Given the description of an element on the screen output the (x, y) to click on. 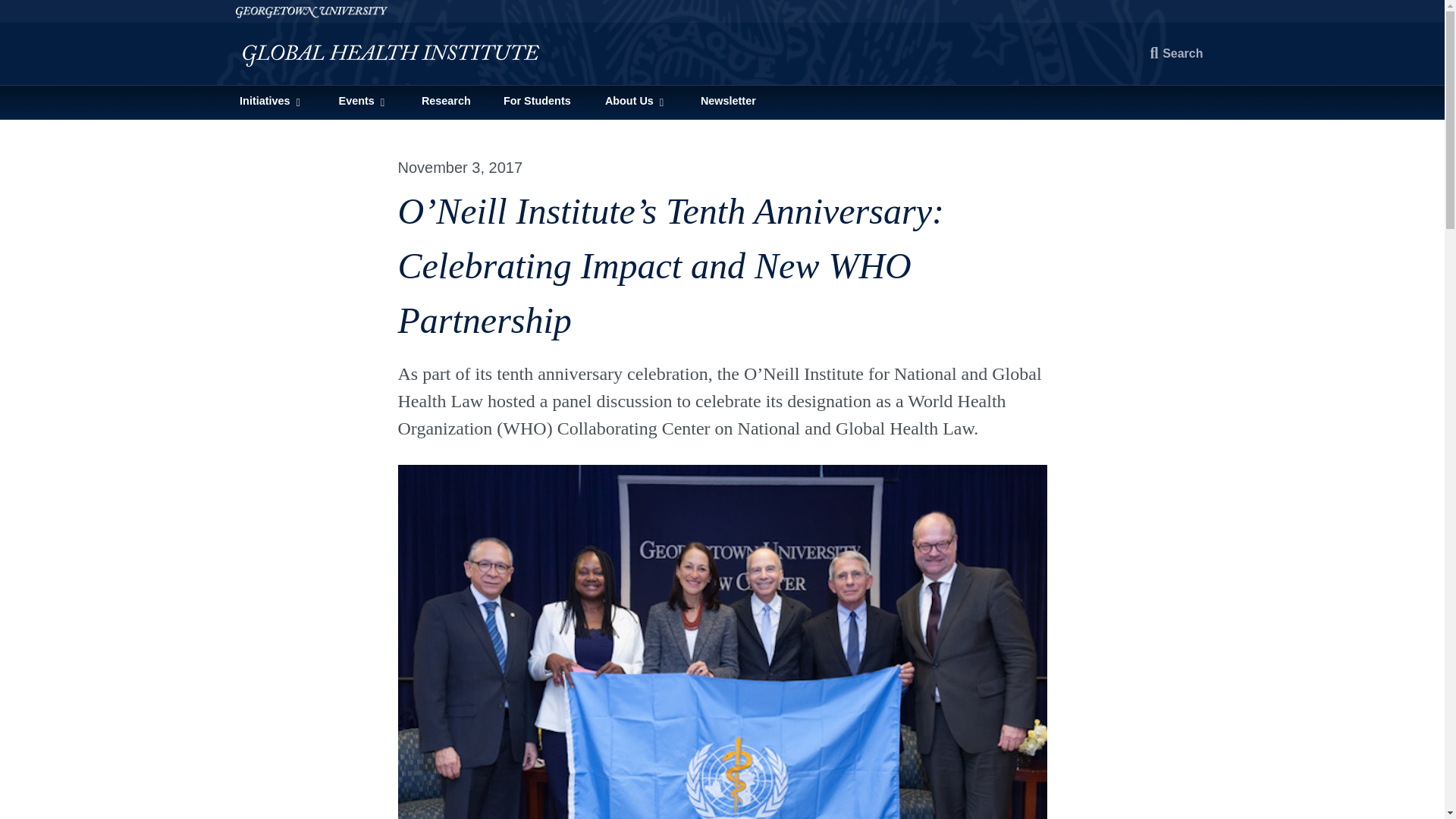
Search this site (1177, 53)
Events (363, 101)
Newsletter (727, 101)
Initiatives (270, 101)
Research (445, 101)
About Us (635, 101)
Global Health Institute (400, 54)
Search (1177, 53)
For Students (537, 101)
Georgetown University (721, 11)
